Given the description of an element on the screen output the (x, y) to click on. 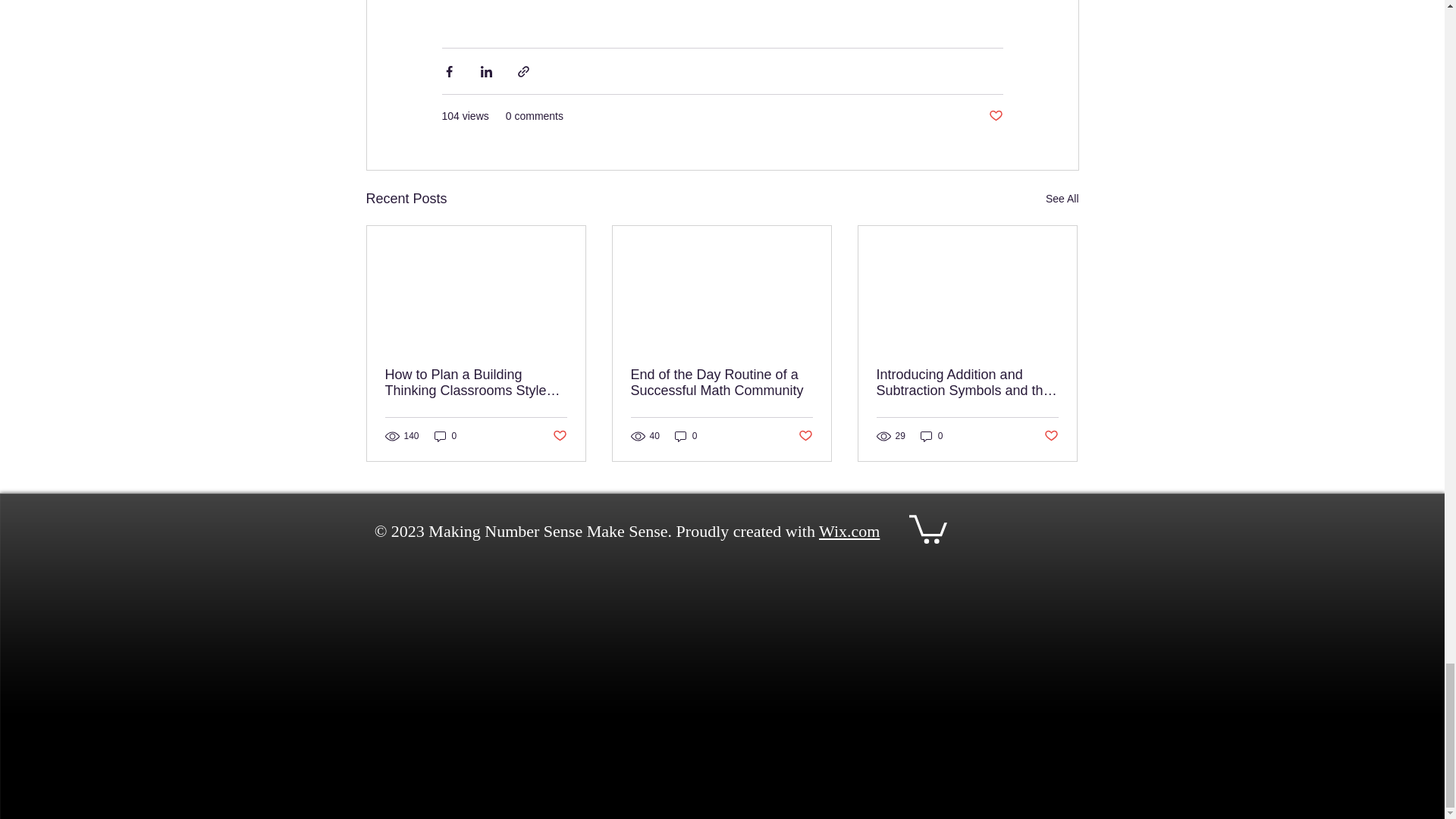
Post not marked as liked (1050, 436)
Post not marked as liked (804, 436)
0 (685, 436)
Post not marked as liked (558, 436)
Post not marked as liked (995, 116)
0 (931, 436)
See All (1061, 198)
0 (445, 436)
